Given the description of an element on the screen output the (x, y) to click on. 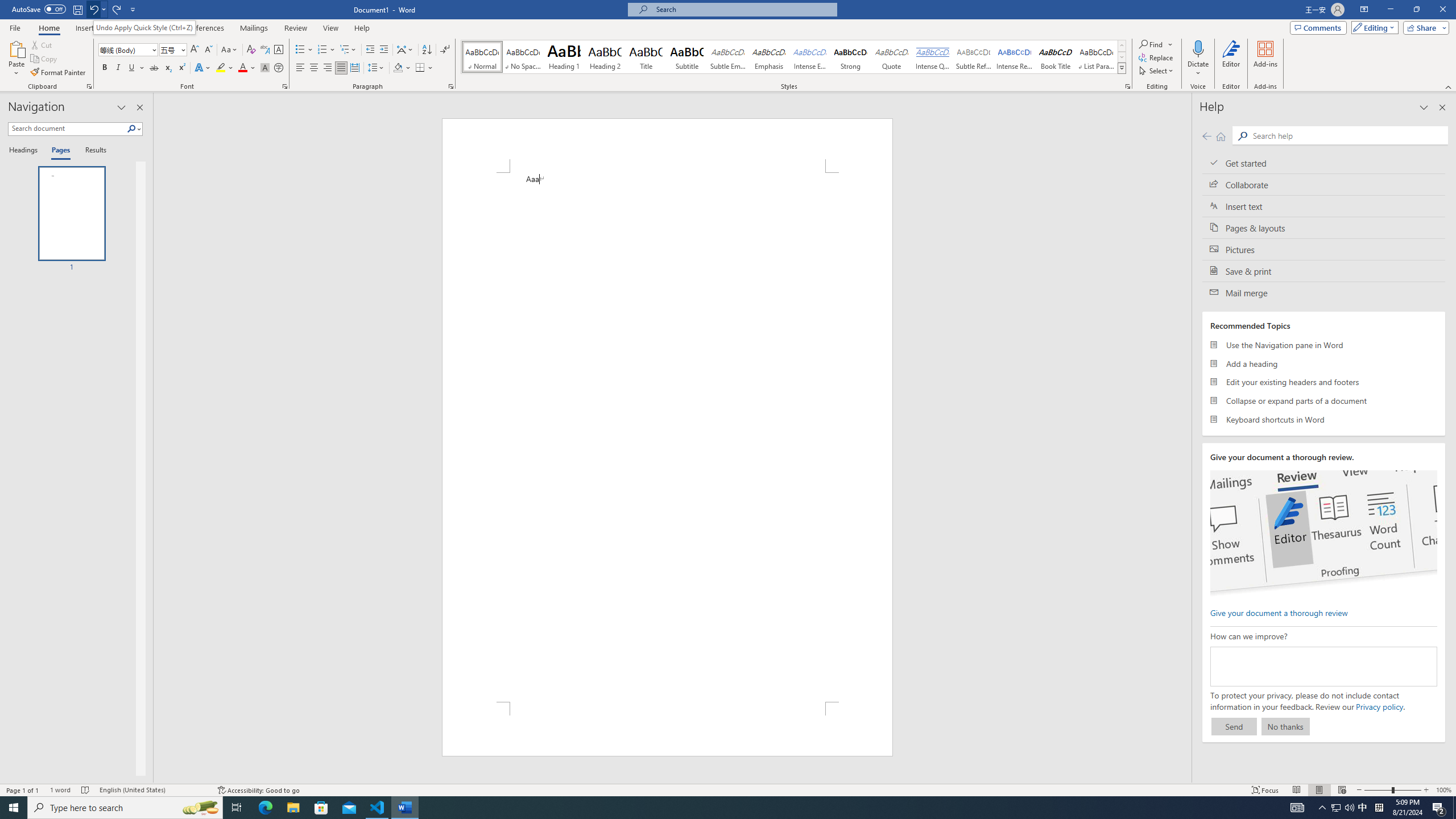
Align Left (300, 67)
Redo Style (117, 9)
Get started (1323, 162)
Save & print (1323, 270)
Intense Quote (932, 56)
Subtitle (686, 56)
Replace... (1156, 56)
